Given the description of an element on the screen output the (x, y) to click on. 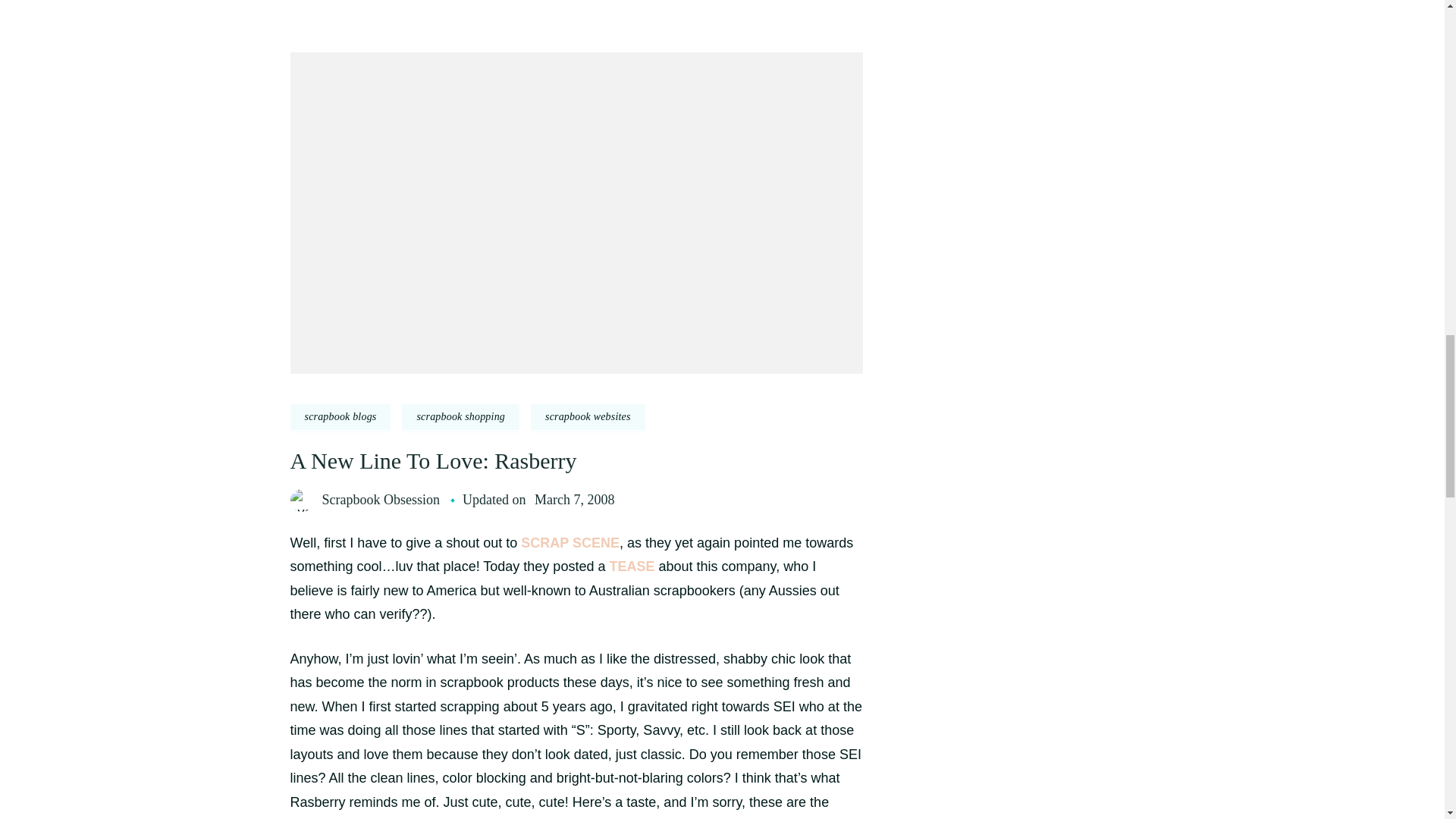
SCRAP SCENE (570, 542)
March 7, 2008 (574, 499)
scrapbook websites (588, 416)
TEASE (630, 566)
scrapbook shopping (460, 416)
scrapbook blogs (339, 416)
A New Line To Love: Rasberry (432, 460)
Scrapbook Obsession (380, 499)
